Given the description of an element on the screen output the (x, y) to click on. 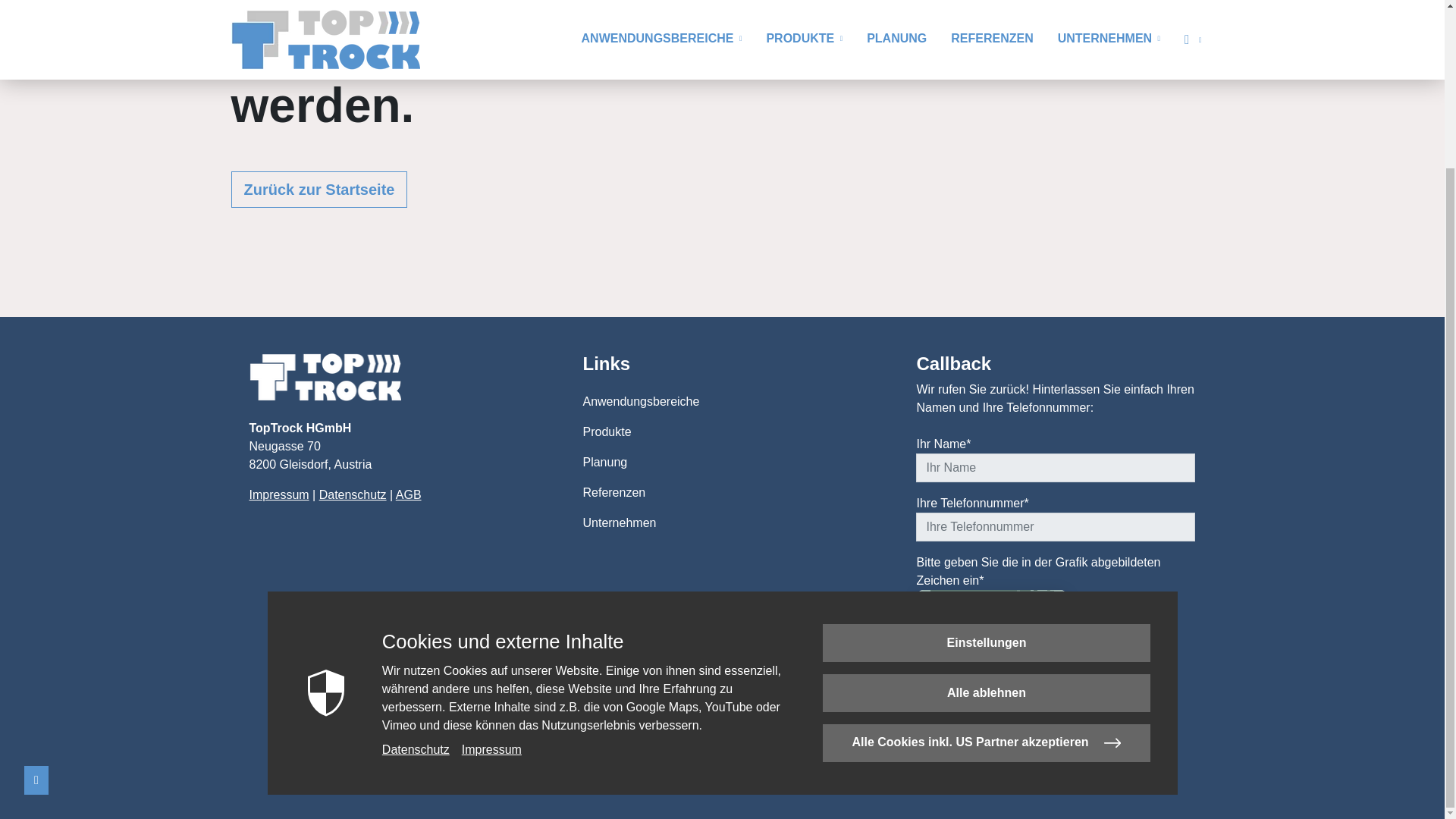
AGB (409, 494)
Impressum (278, 494)
Datenschutz (352, 494)
